Given the description of an element on the screen output the (x, y) to click on. 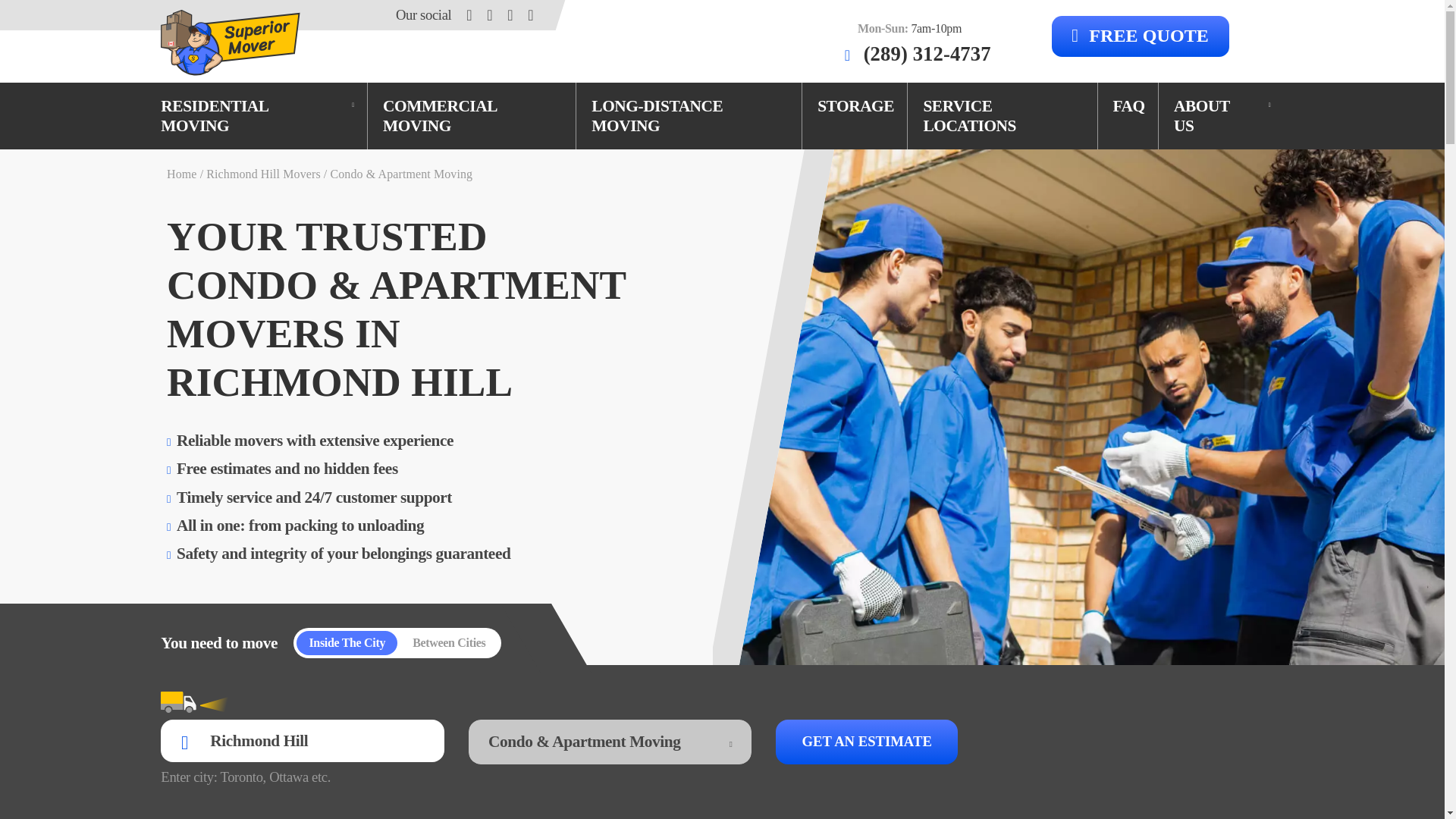
STORAGE (854, 106)
COMMERCIAL MOVING (472, 116)
Richmond Hill Movers (263, 173)
FREE QUOTE (1139, 35)
Home (181, 173)
Richmond Hill (302, 740)
SERVICE LOCATIONS (1003, 116)
LONG-DISTANCE MOVING (689, 116)
FAQ (1128, 106)
GET AN ESTIMATE (867, 741)
RESIDENTIAL MOVING (256, 116)
Richmond Hill (302, 740)
